Given the description of an element on the screen output the (x, y) to click on. 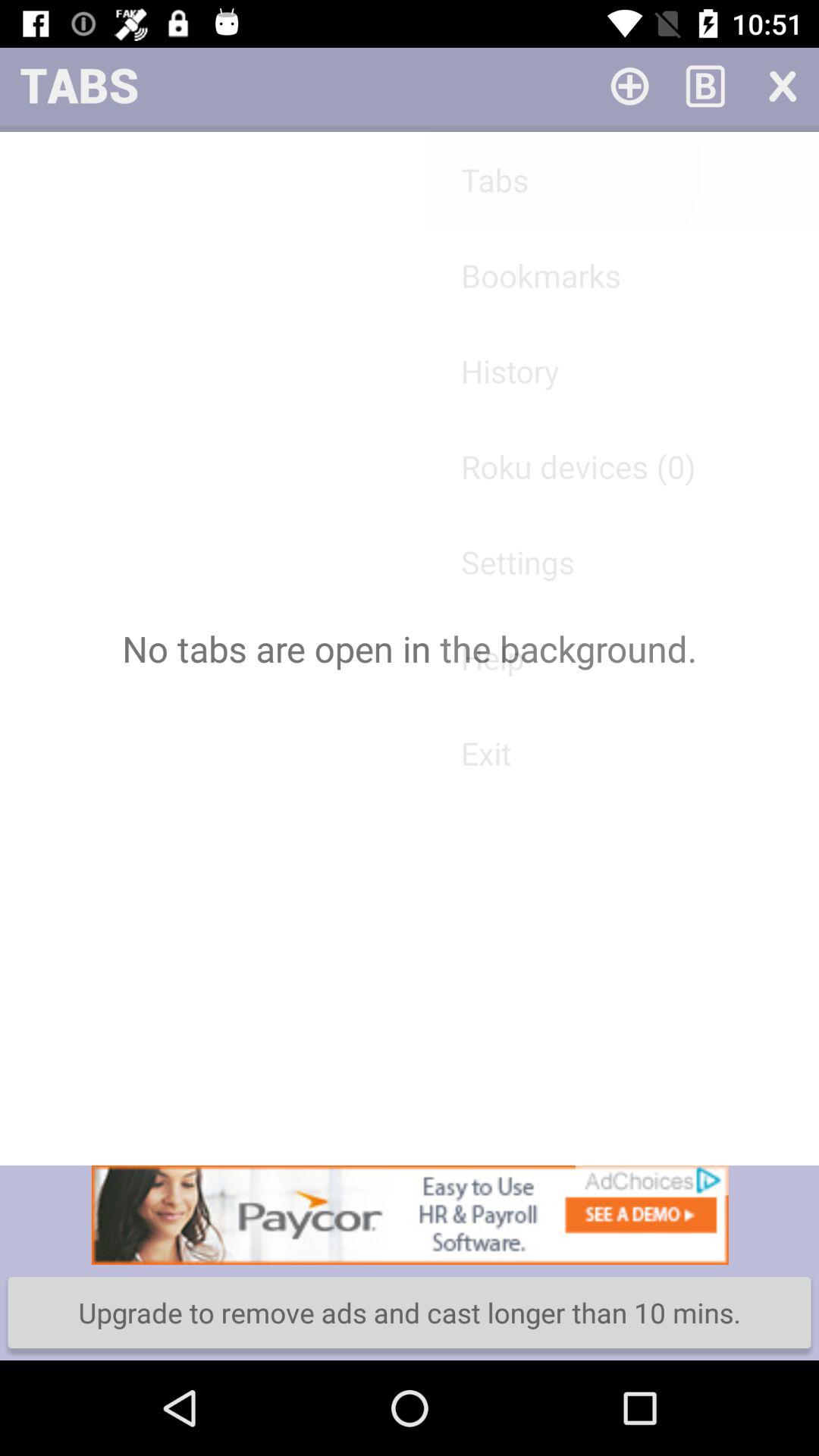
advertisement for paycor software (409, 1214)
